Given the description of an element on the screen output the (x, y) to click on. 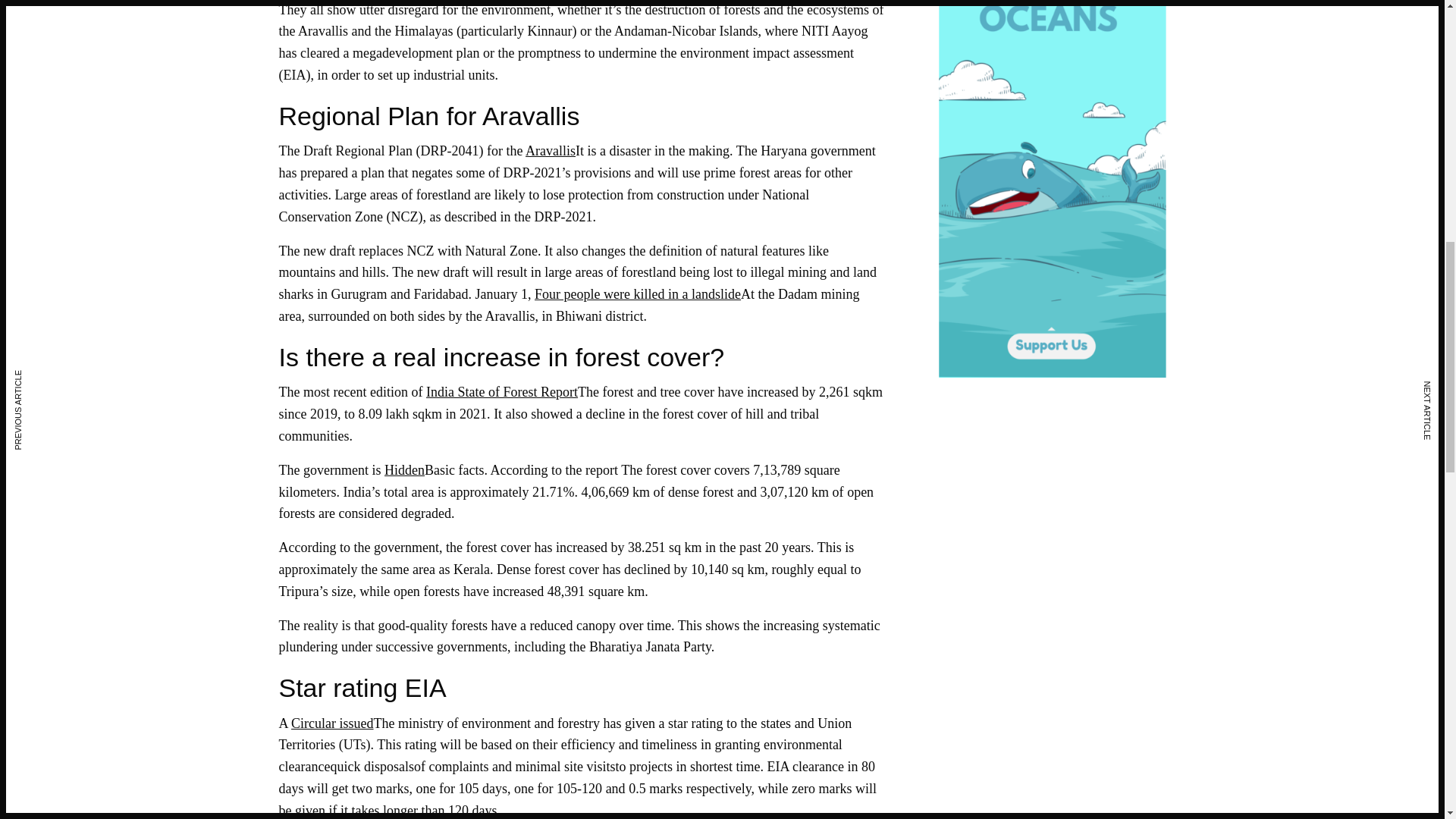
Circular issued (332, 723)
Hidden (404, 469)
Four people were killed in a landslide (637, 294)
India State of Forest Report (502, 391)
Aravallis (550, 150)
